Given the description of an element on the screen output the (x, y) to click on. 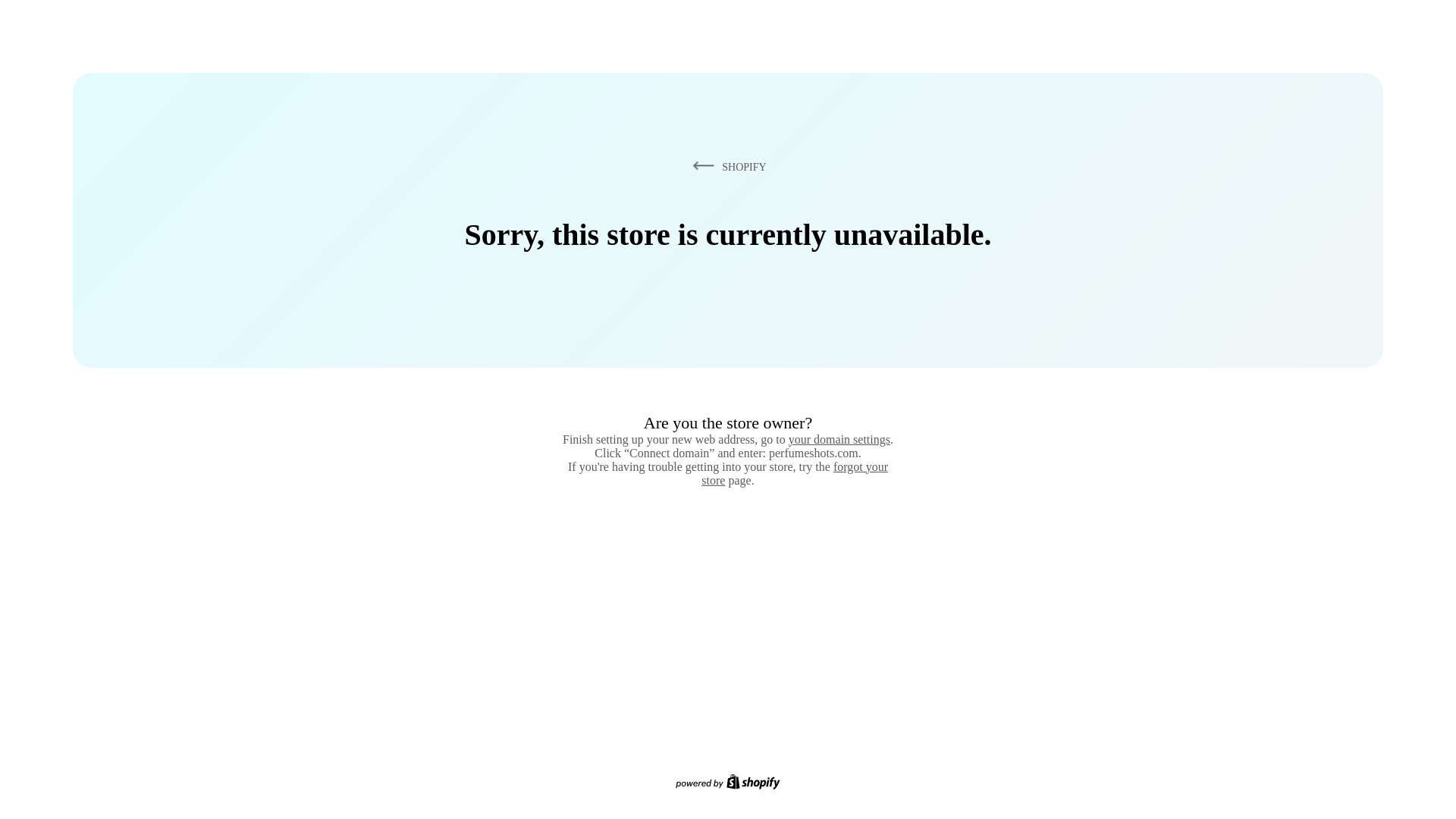
SHOPIFY (726, 166)
your domain settings (839, 439)
forgot your store (794, 473)
